Given the description of an element on the screen output the (x, y) to click on. 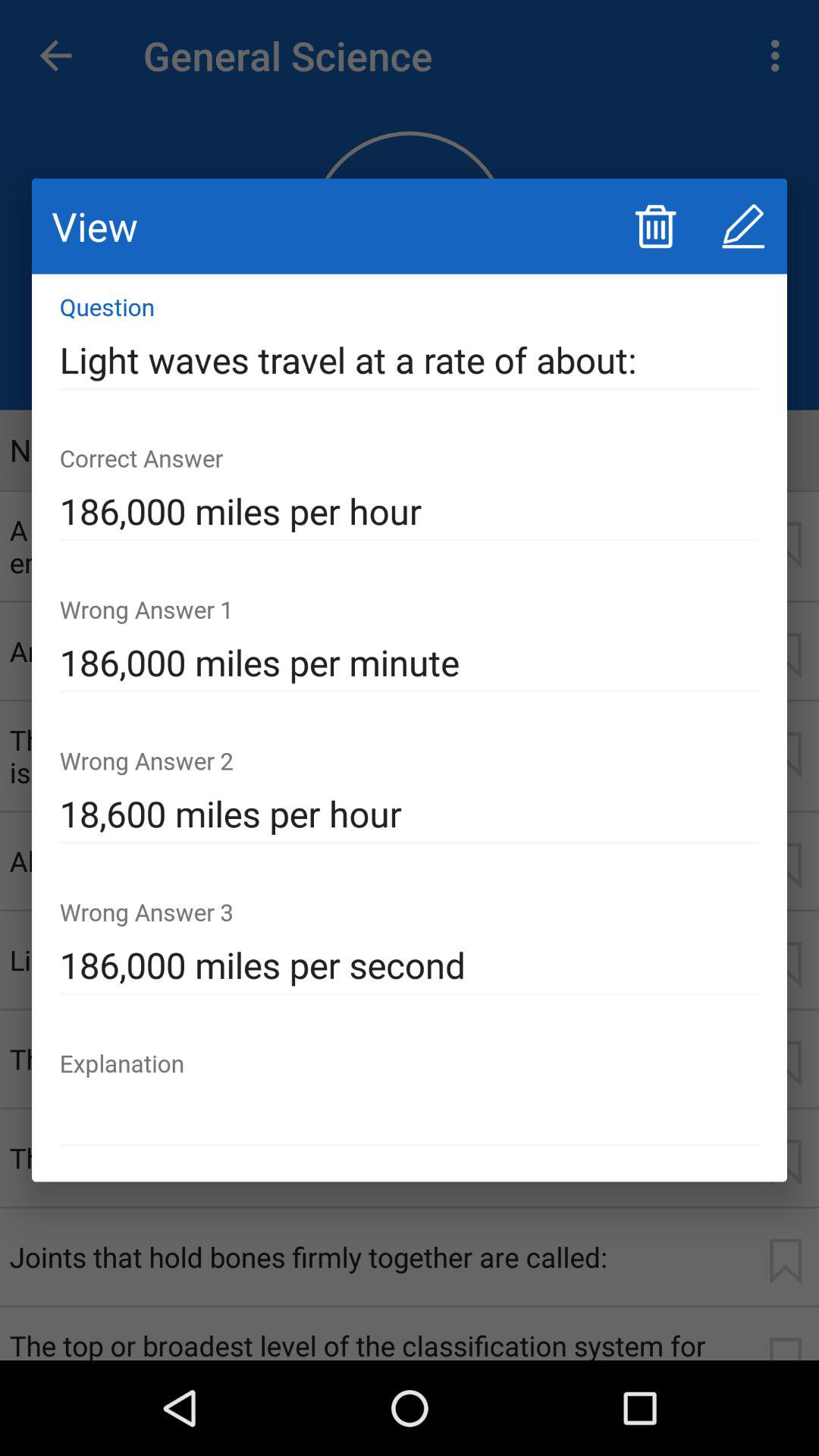
select icon above light waves travel icon (743, 226)
